Given the description of an element on the screen output the (x, y) to click on. 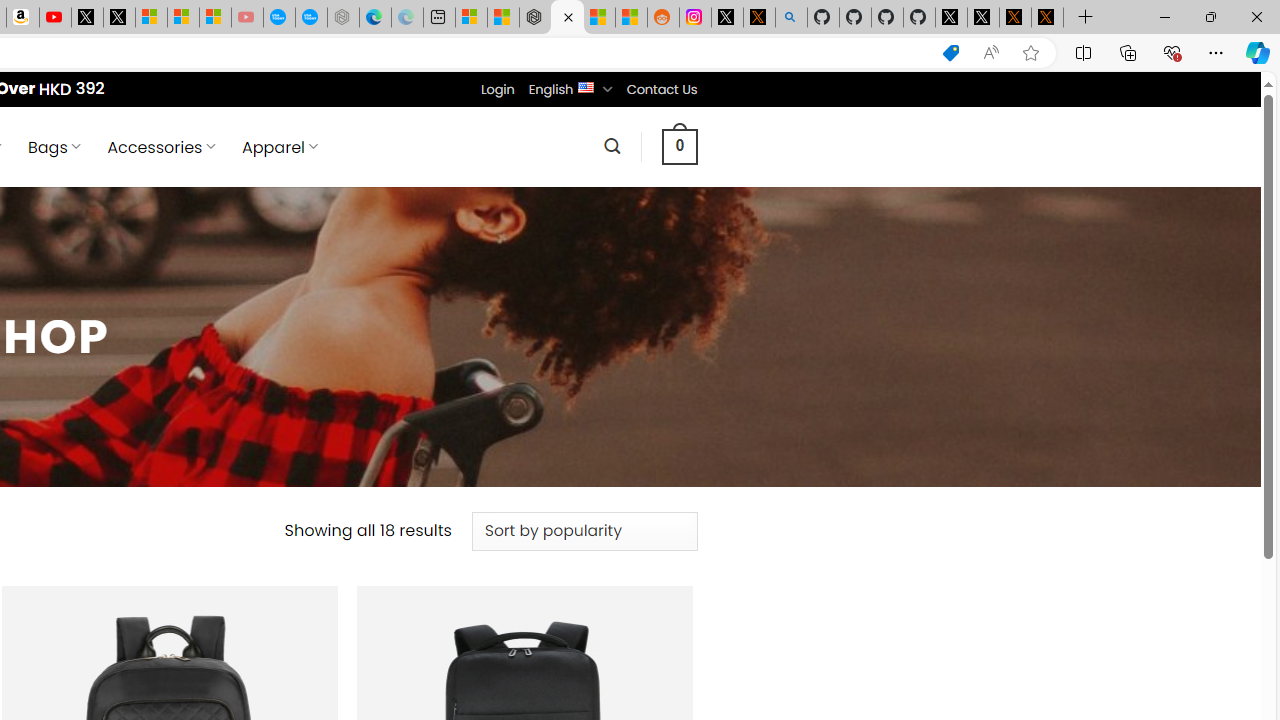
Search (612, 146)
New Tab (1085, 17)
Browser essentials (1171, 52)
Login (497, 89)
Restore (1210, 16)
  0   (679, 146)
Read aloud this page (Ctrl+Shift+U) (991, 53)
The most popular Google 'how to' searches (310, 17)
